Given the description of an element on the screen output the (x, y) to click on. 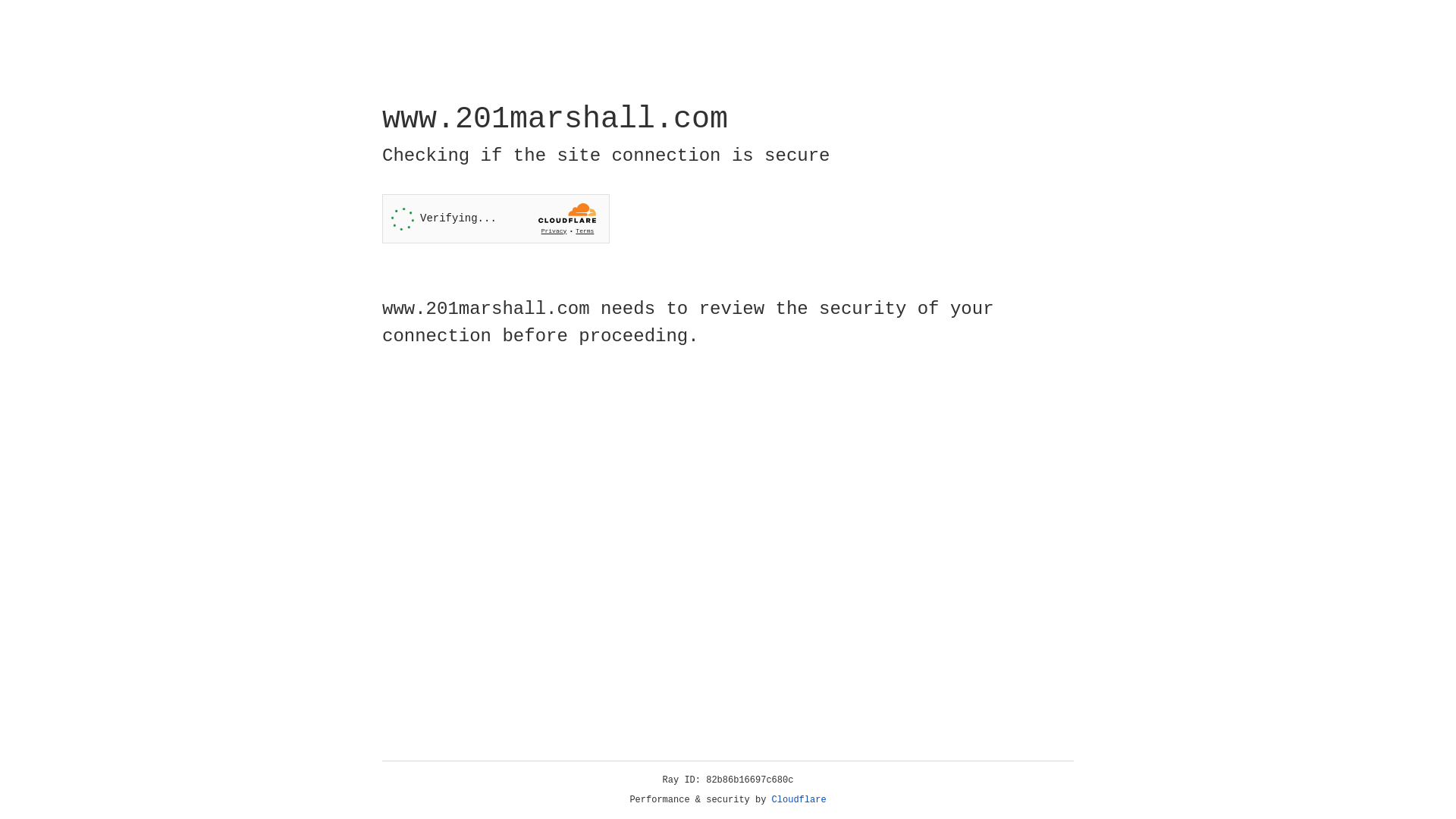
Cloudflare Element type: text (798, 799)
Widget containing a Cloudflare security challenge Element type: hover (495, 218)
